Given the description of an element on the screen output the (x, y) to click on. 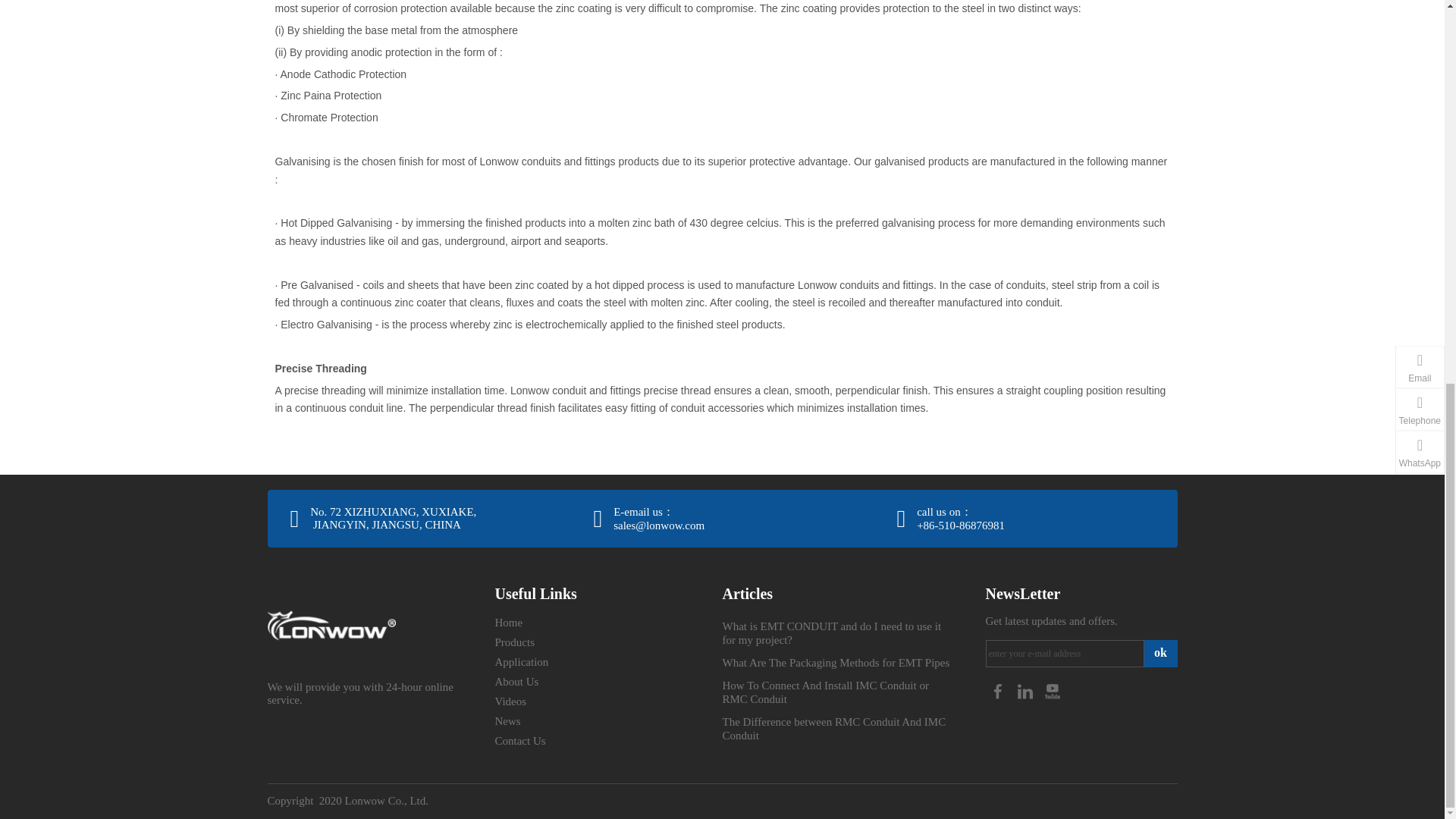
The Difference between RMC Conduit And IMC Conduit (833, 728)
Application (521, 662)
News (507, 720)
350 (330, 625)
Home (508, 622)
What is EMT CONDUIT and do I need to use it for my project? (831, 632)
What Are The Packaging Methods for EMT Pipes (835, 662)
Products (514, 642)
Contact Us (519, 740)
About Us (516, 681)
How To Connect And Install IMC Conduit or RMC Conduit (825, 692)
Videos (510, 701)
